Given the description of an element on the screen output the (x, y) to click on. 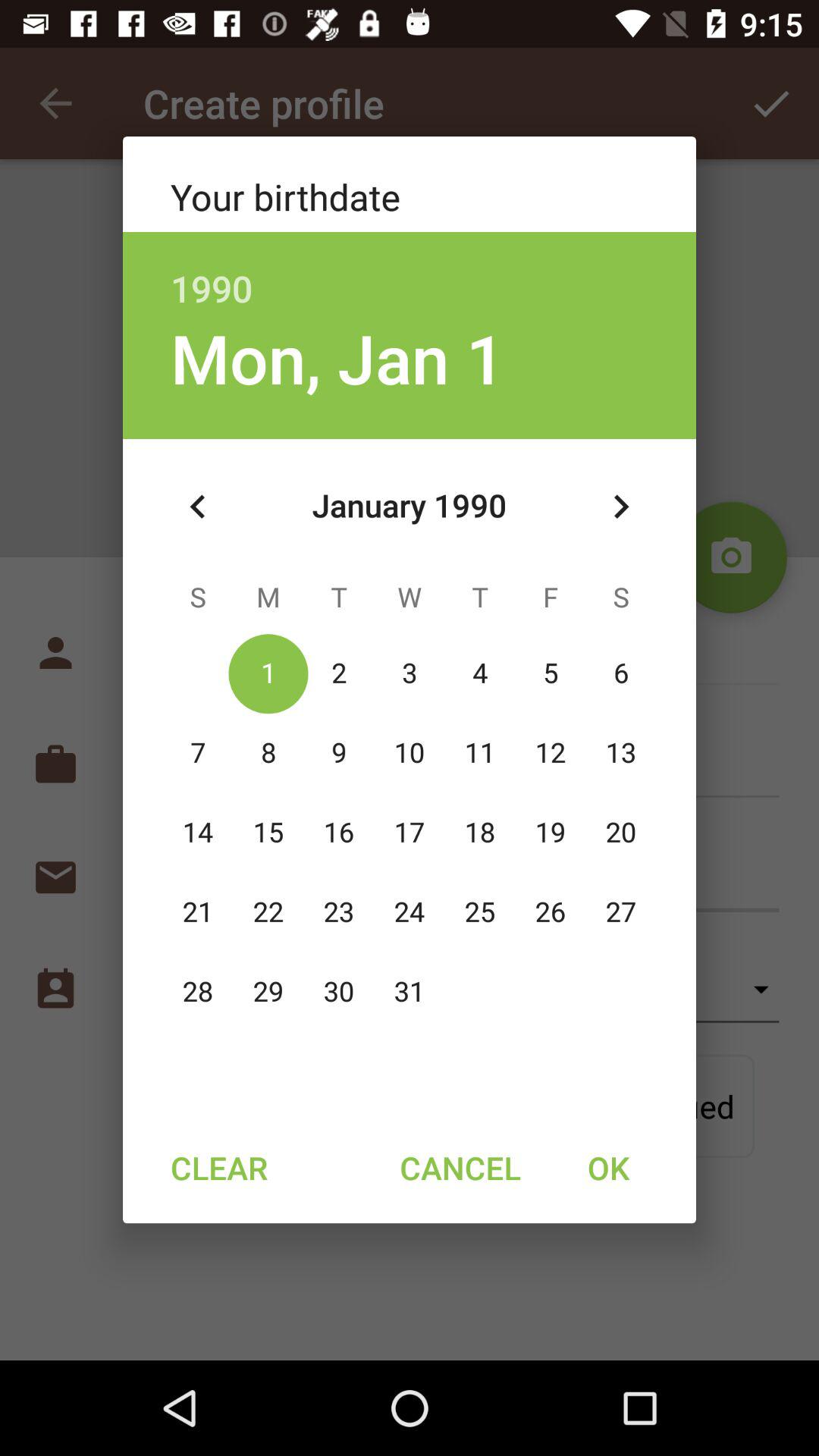
turn on cancel (459, 1167)
